Given the description of an element on the screen output the (x, y) to click on. 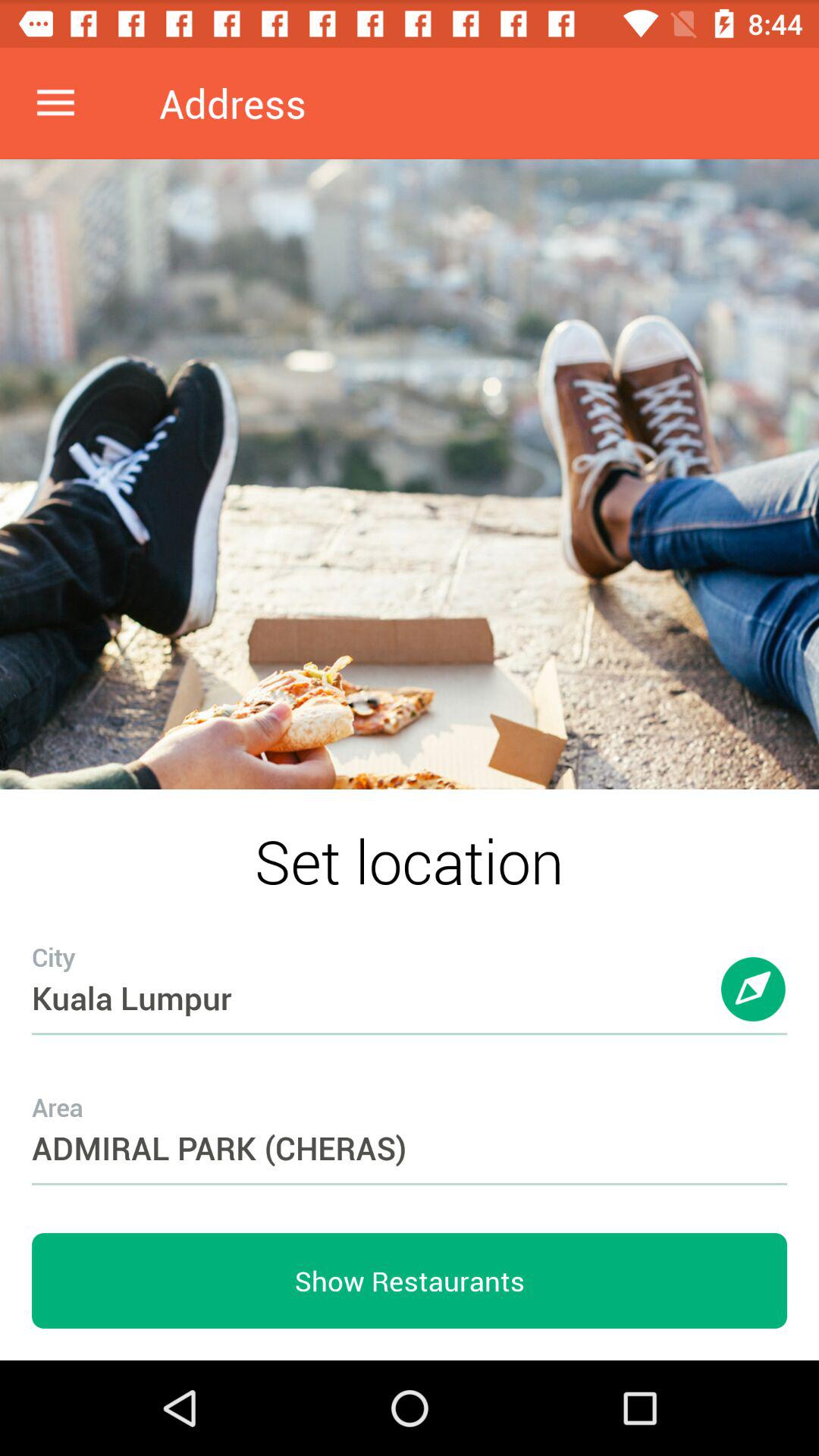
click the icon at the bottom right corner (754, 1004)
